Given the description of an element on the screen output the (x, y) to click on. 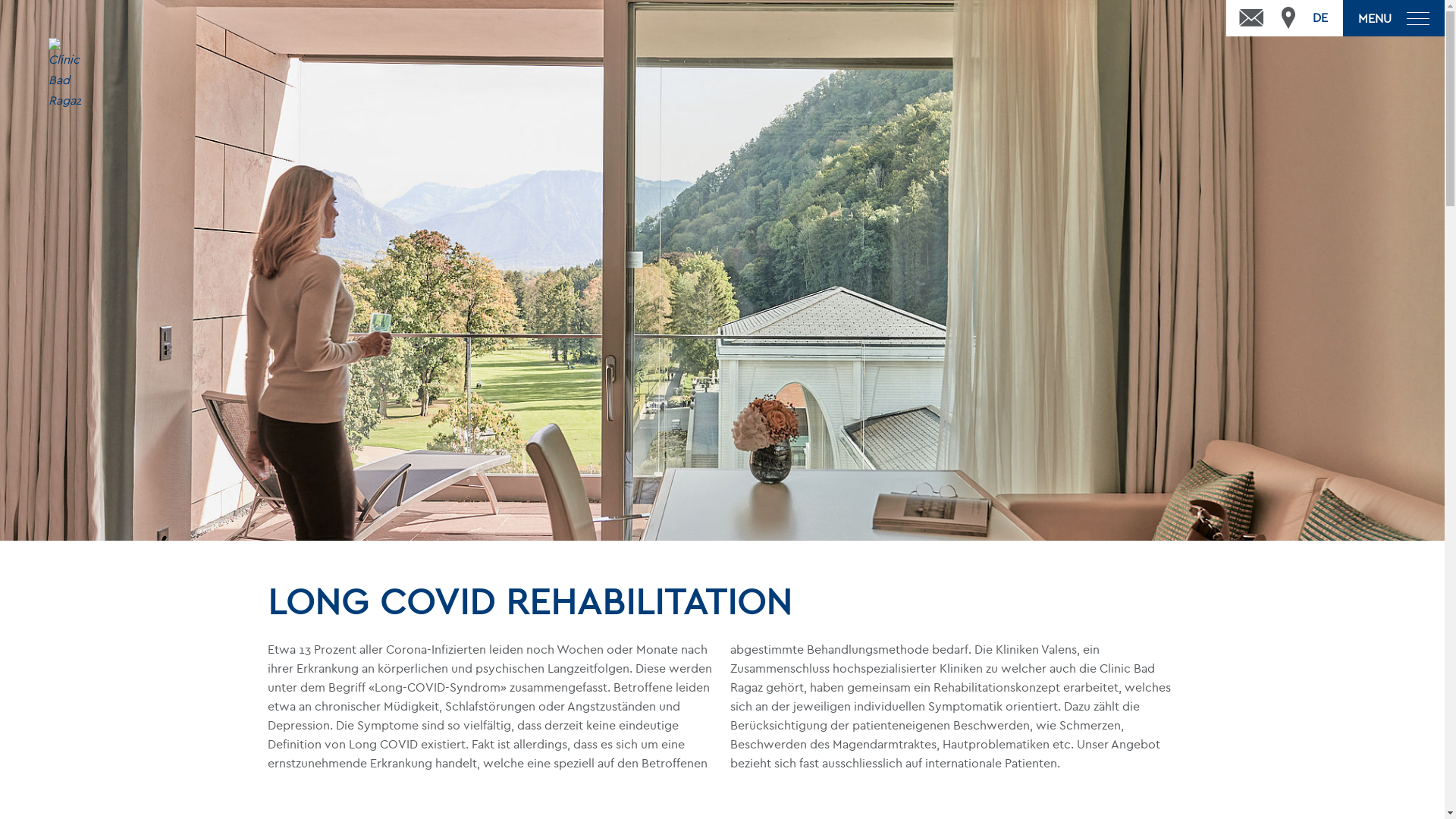
Anfahrt Element type: hover (1288, 18)
Kontakt Element type: hover (1251, 18)
Clinic Bad Ragaz Element type: hover (64, 89)
